Given the description of an element on the screen output the (x, y) to click on. 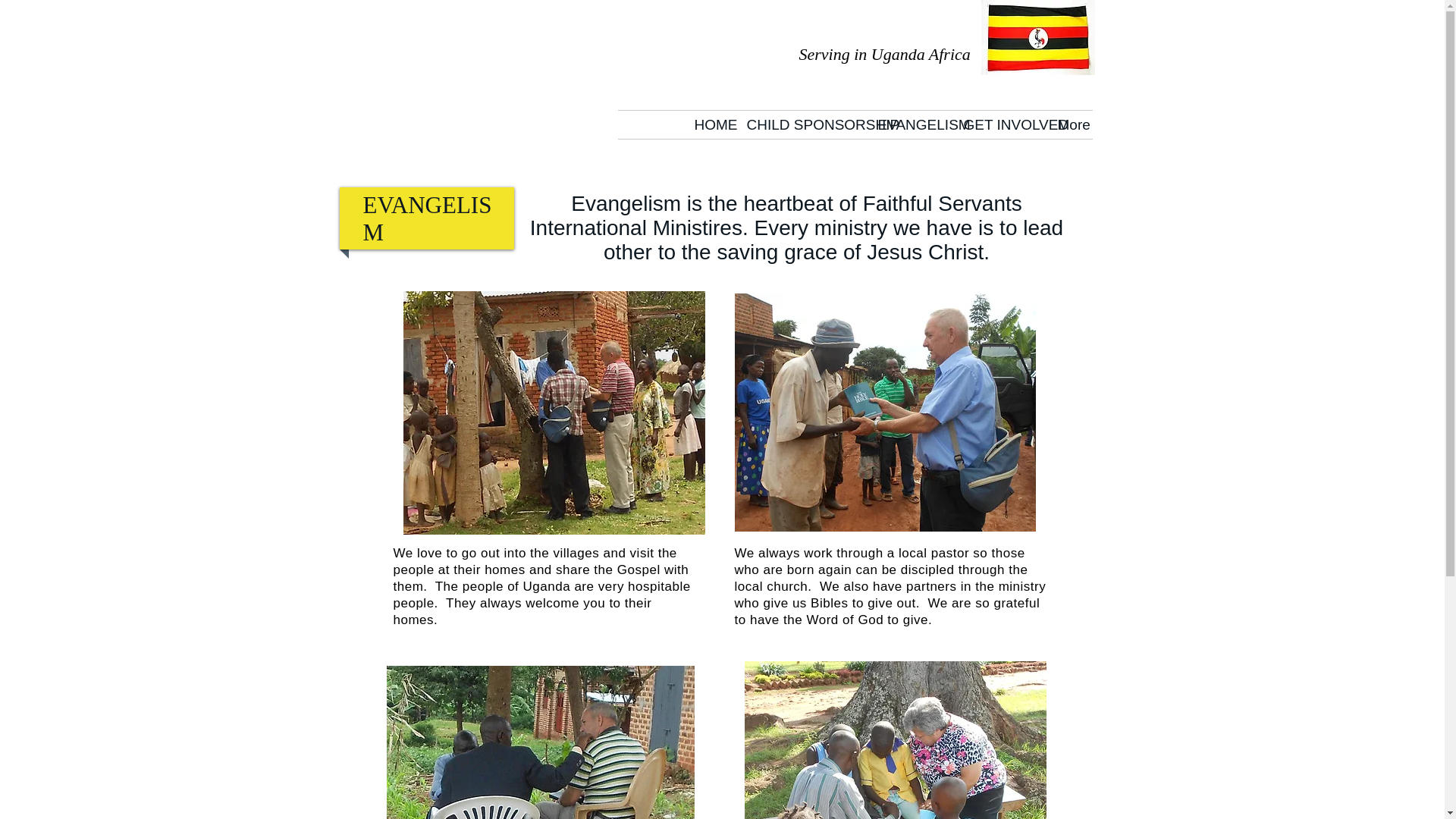
GET INVOLVED (999, 124)
EVANGELISM (909, 124)
CHILD SPONSORSHIP (800, 124)
HOME (708, 124)
